Given the description of an element on the screen output the (x, y) to click on. 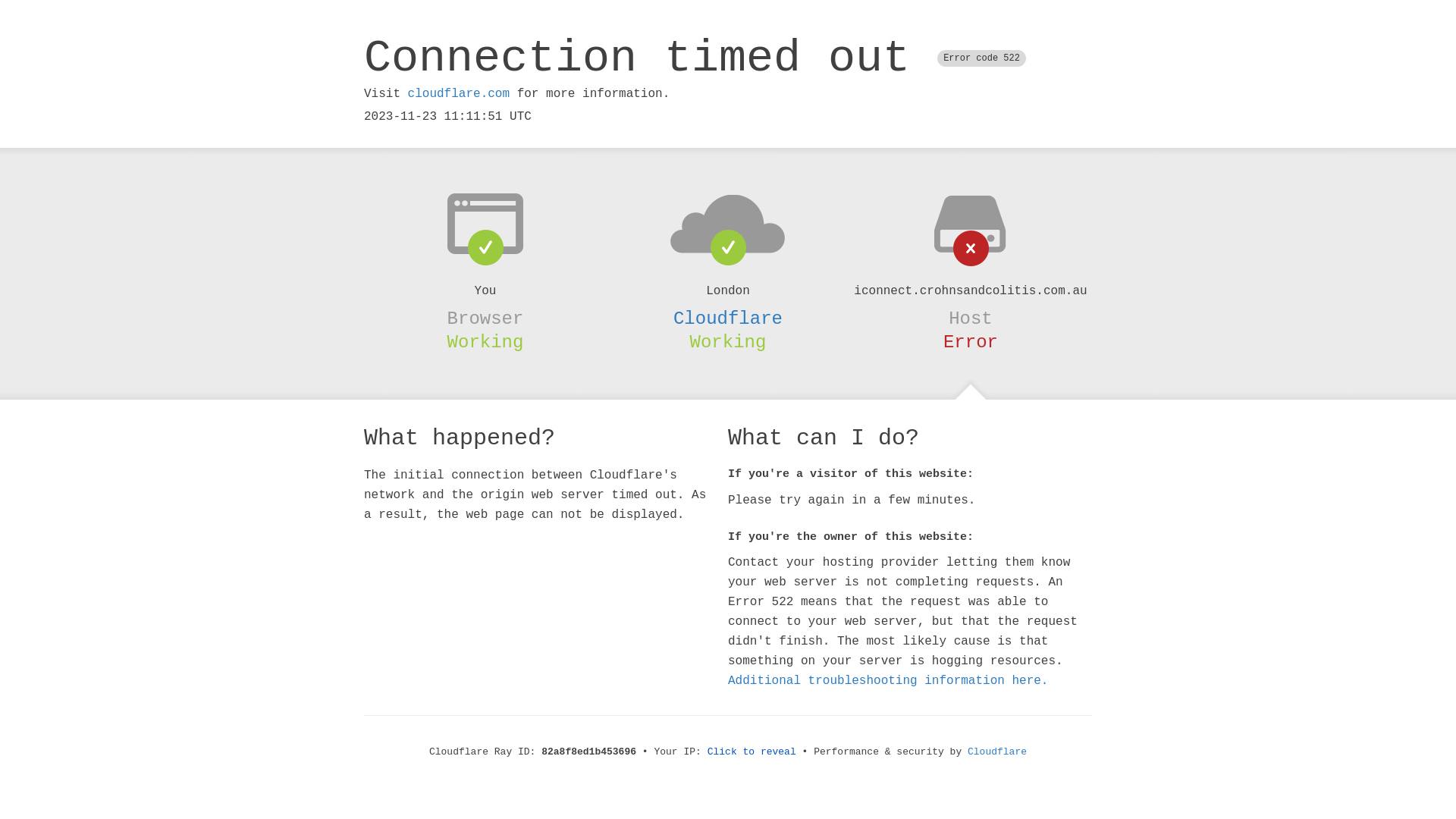
Cloudflare Element type: text (727, 318)
Cloudflare Element type: text (996, 751)
cloudflare.com Element type: text (458, 93)
Additional troubleshooting information here. Element type: text (888, 680)
Click to reveal Element type: text (751, 751)
